Given the description of an element on the screen output the (x, y) to click on. 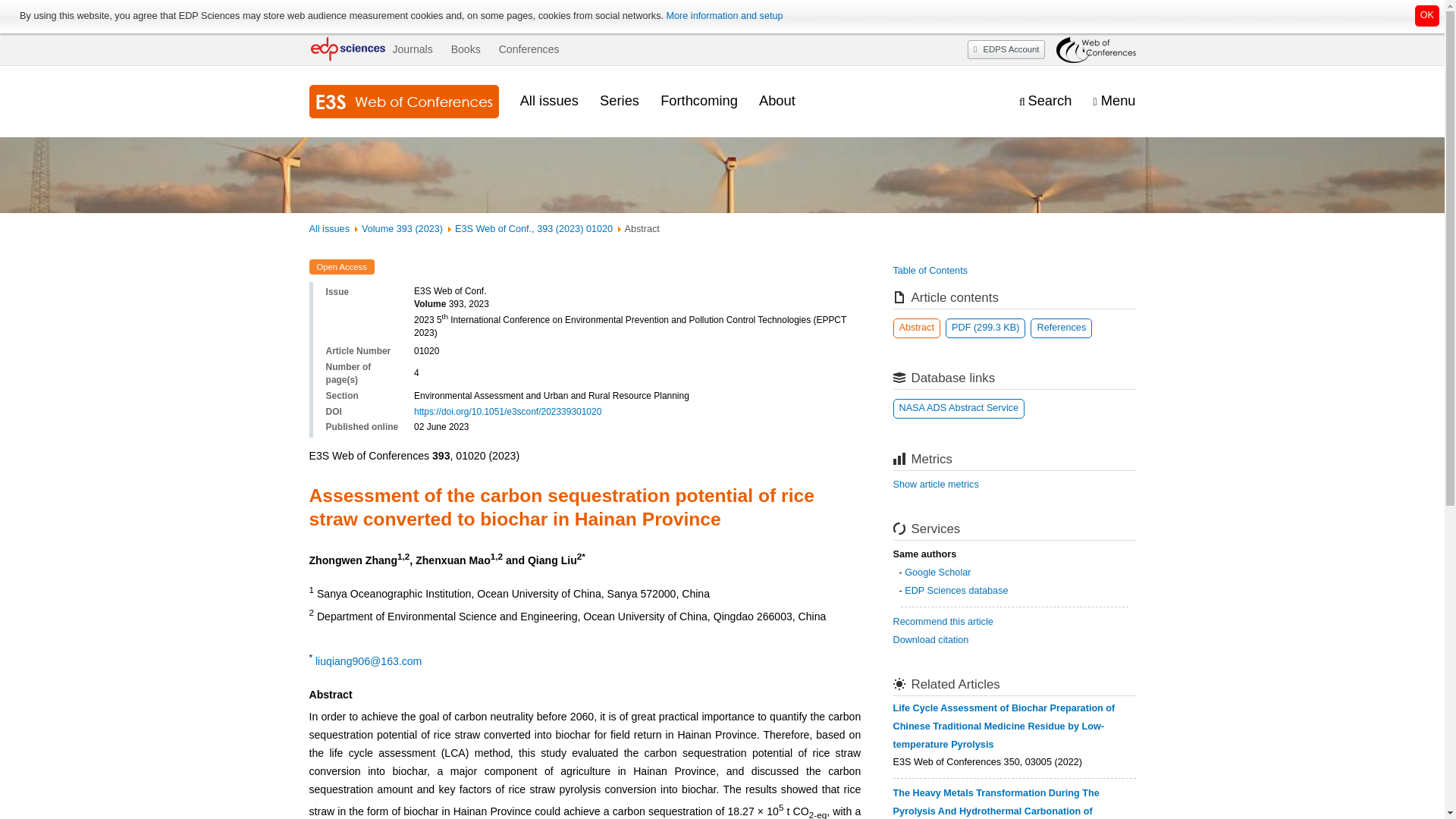
Conferences (529, 49)
Click to close this notification (1427, 15)
OK (1427, 15)
More information and setup (724, 15)
Books (465, 49)
Journals (411, 49)
Display the search engine (1045, 101)
Journal homepage (403, 101)
Abstract (916, 328)
